Given the description of an element on the screen output the (x, y) to click on. 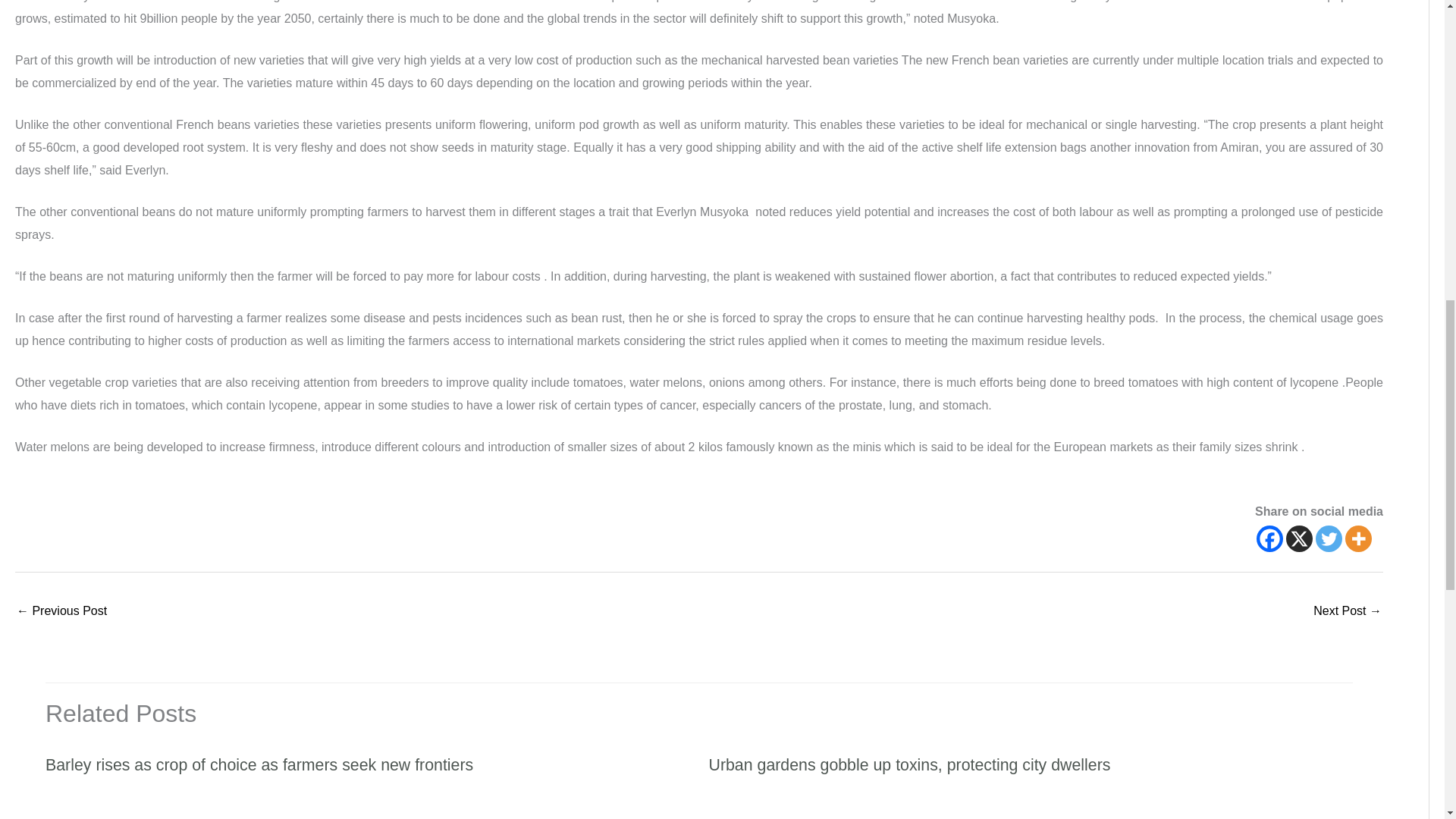
Barley rises as crop of choice as farmers seek new frontiers (259, 764)
Twitter (1329, 538)
Facebook (1269, 538)
More (1358, 538)
Urban gardens gobble up toxins, protecting city dwellers (908, 764)
X (1299, 538)
